Given the description of an element on the screen output the (x, y) to click on. 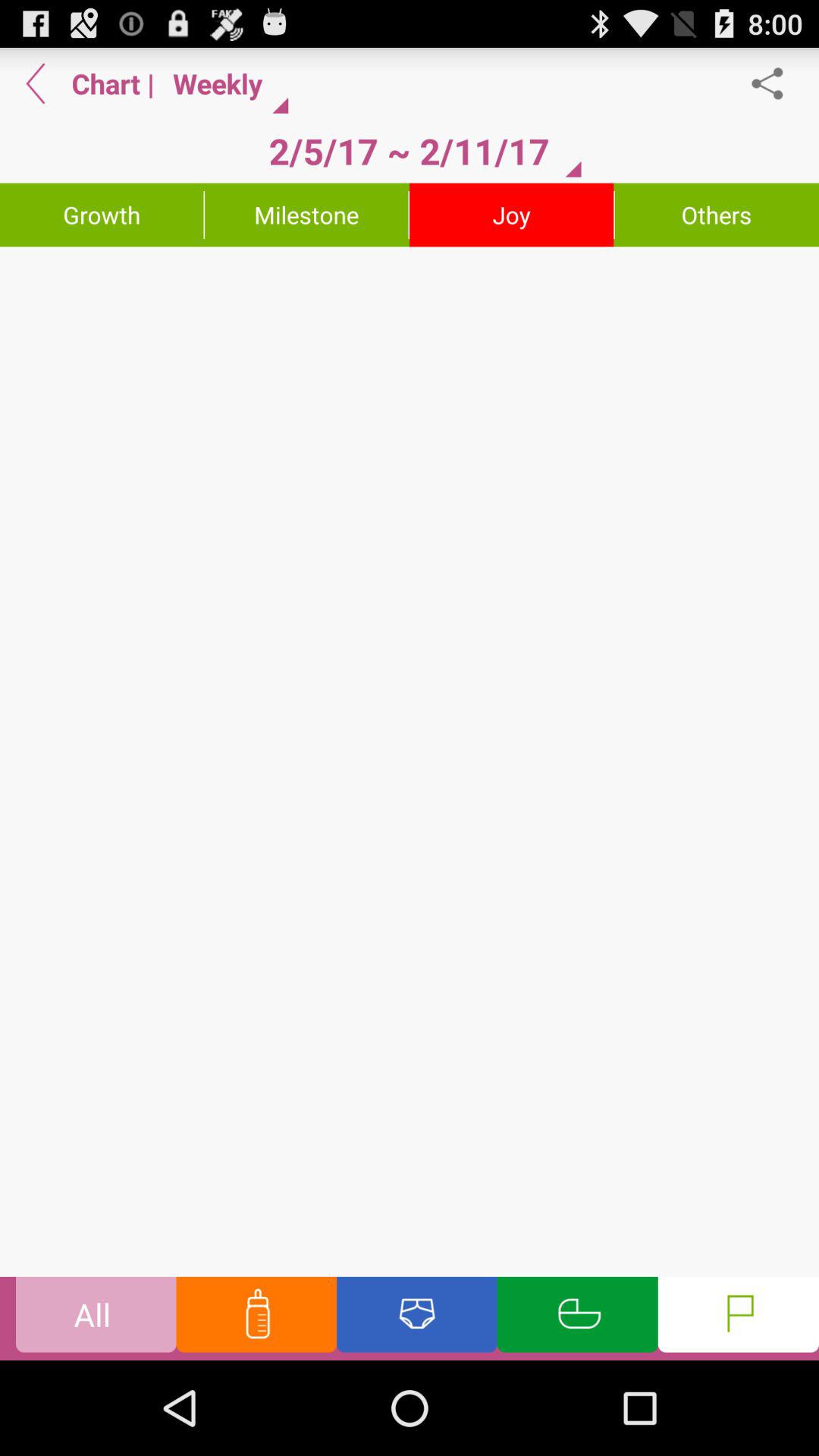
select the button above the milestone button (409, 151)
